Given the description of an element on the screen output the (x, y) to click on. 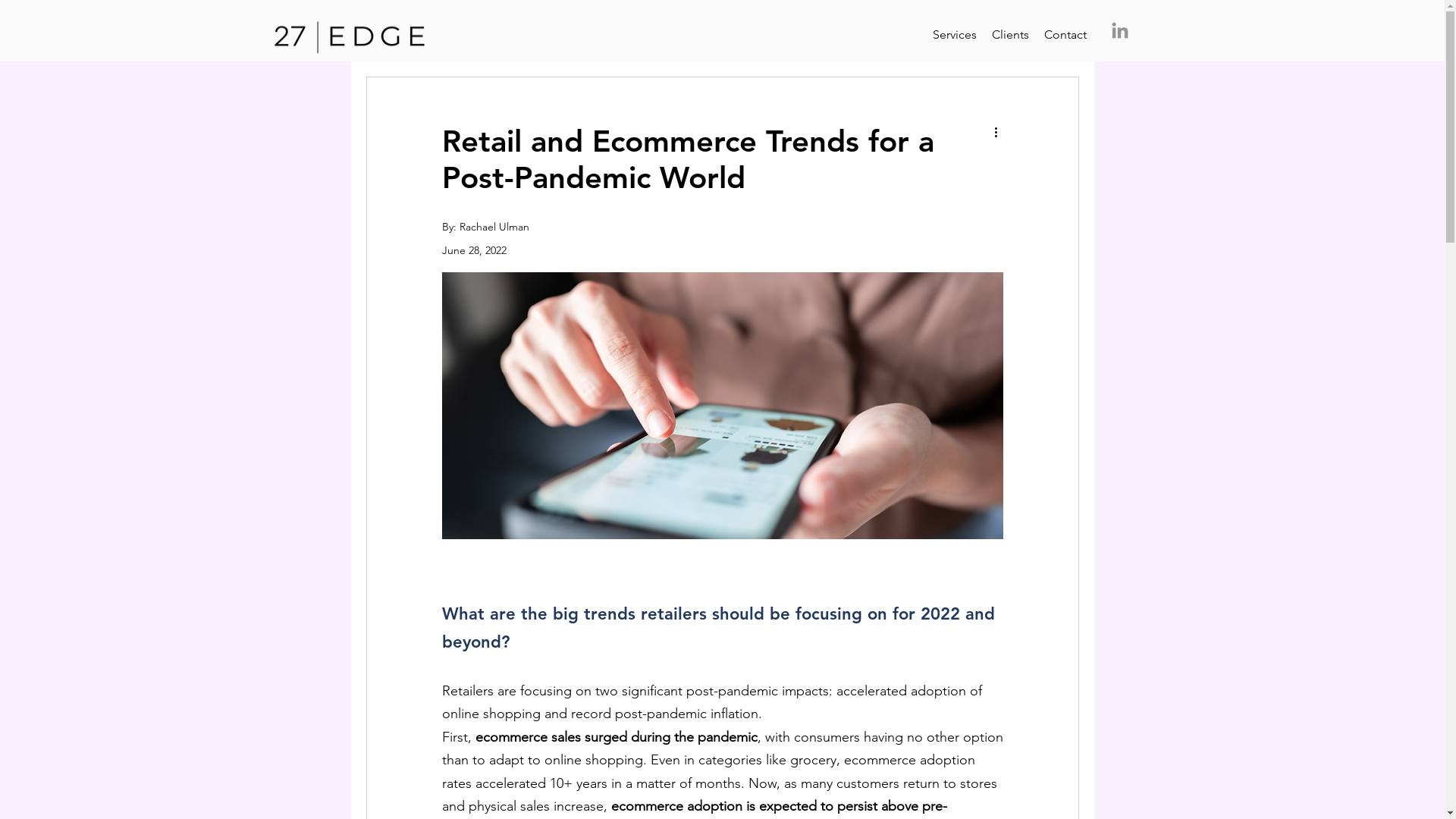
Contact Element type: text (1064, 34)
Clients Element type: text (1010, 34)
Services Element type: text (954, 34)
